Given the description of an element on the screen output the (x, y) to click on. 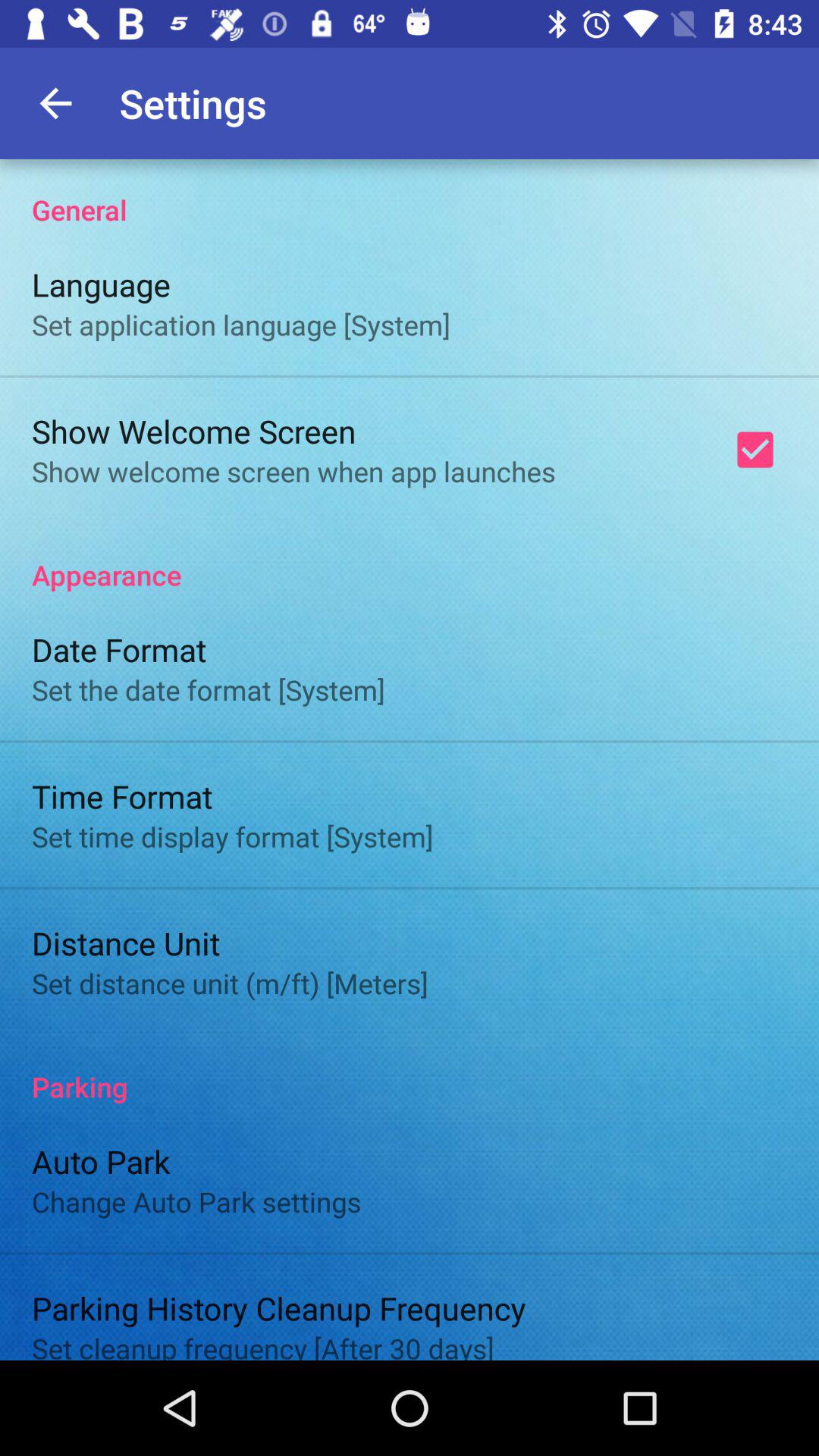
options for the user interface (409, 759)
